Given the description of an element on the screen output the (x, y) to click on. 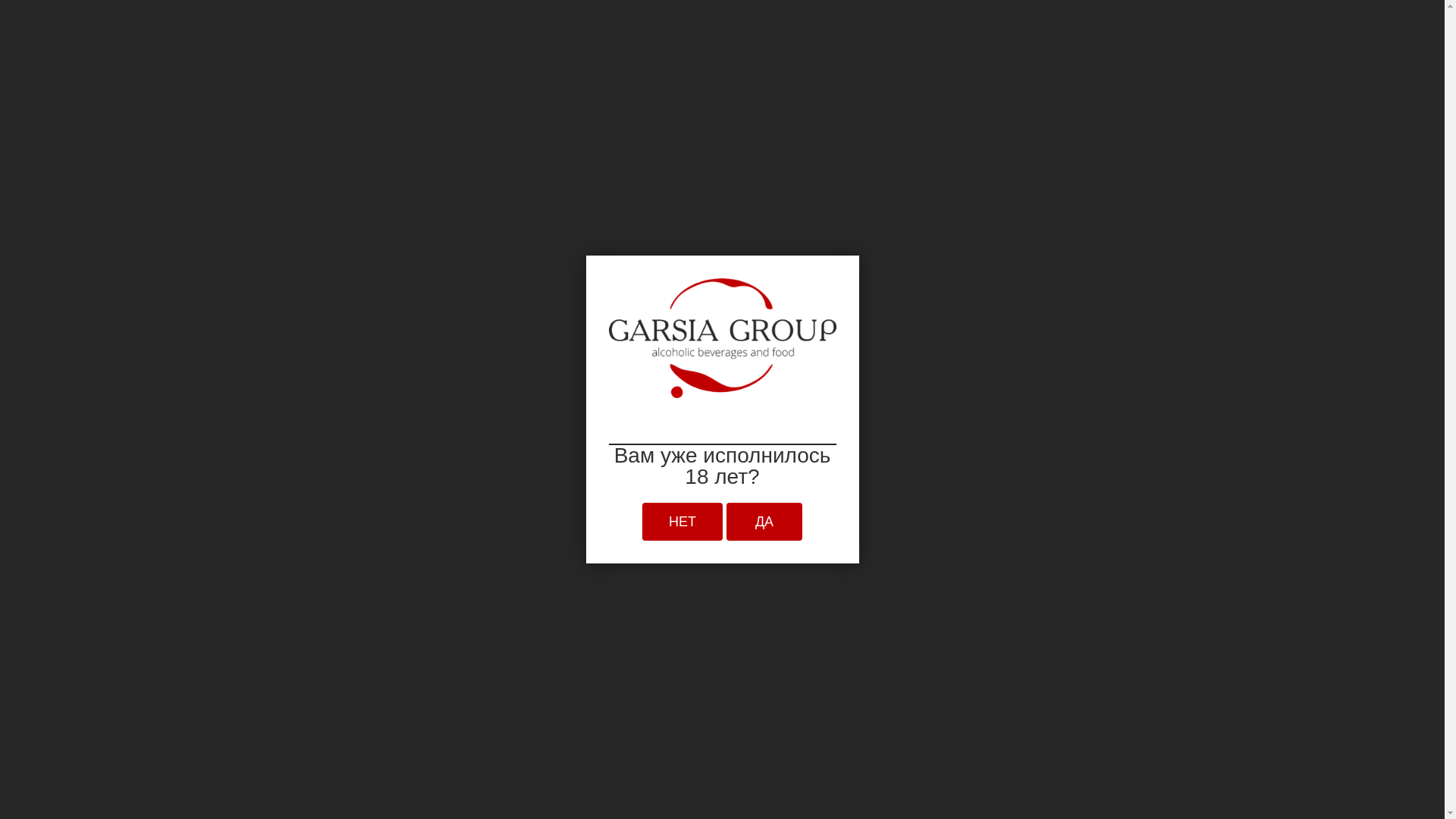
EN Element type: text (1234, 35)
